Given the description of an element on the screen output the (x, y) to click on. 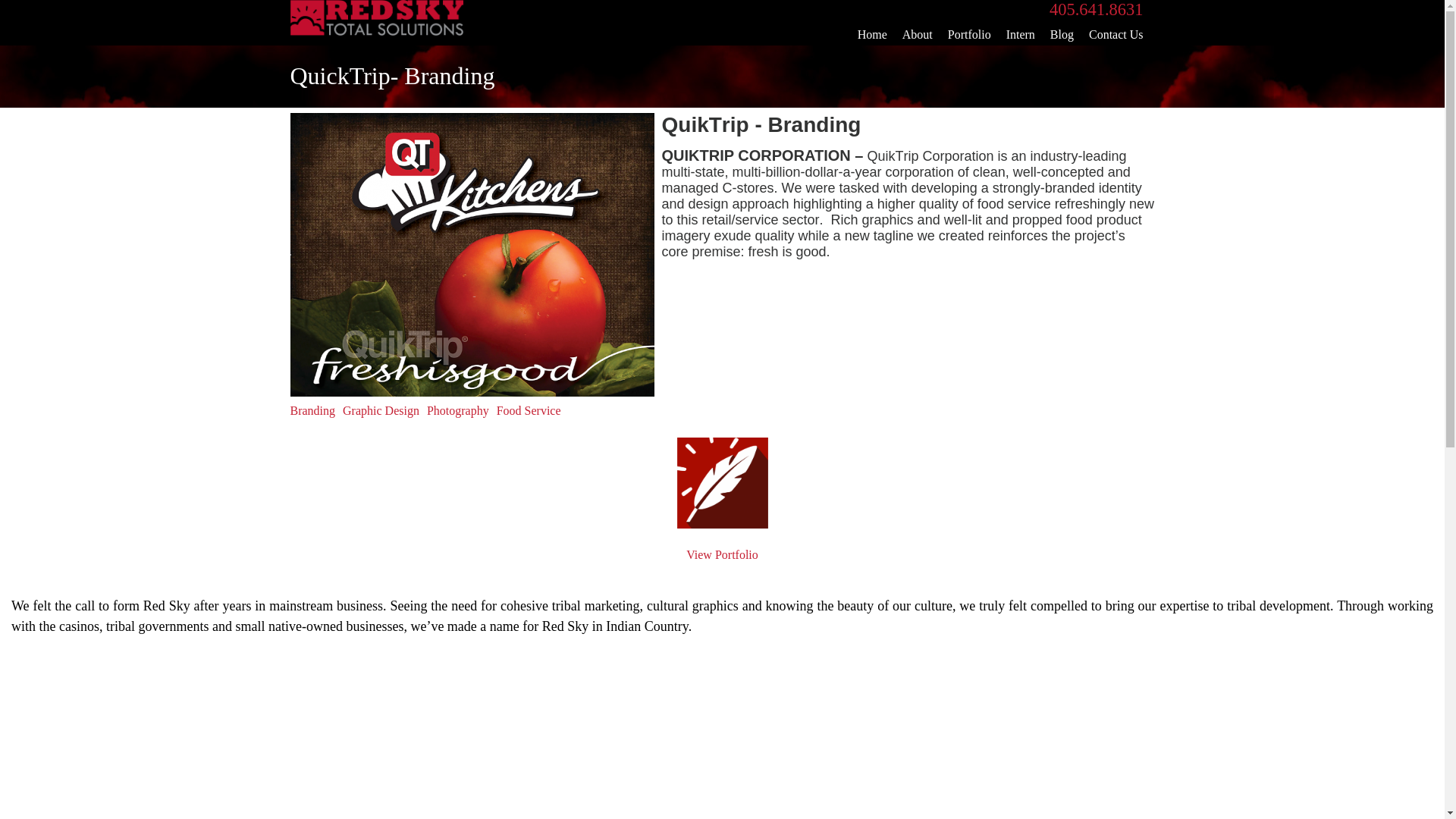
Intern (1021, 34)
View Portfolio (721, 554)
405.641.8631 (1095, 9)
QuickTrip - Branding (471, 254)
Photography (457, 410)
Portfolio (968, 34)
About (917, 34)
Branding (311, 410)
Red Sky Total Solutions, LLC (376, 31)
Contact Us (1115, 34)
Blog (1061, 34)
Graphic Design (380, 410)
Home (872, 34)
Food Service (528, 410)
